Given the description of an element on the screen output the (x, y) to click on. 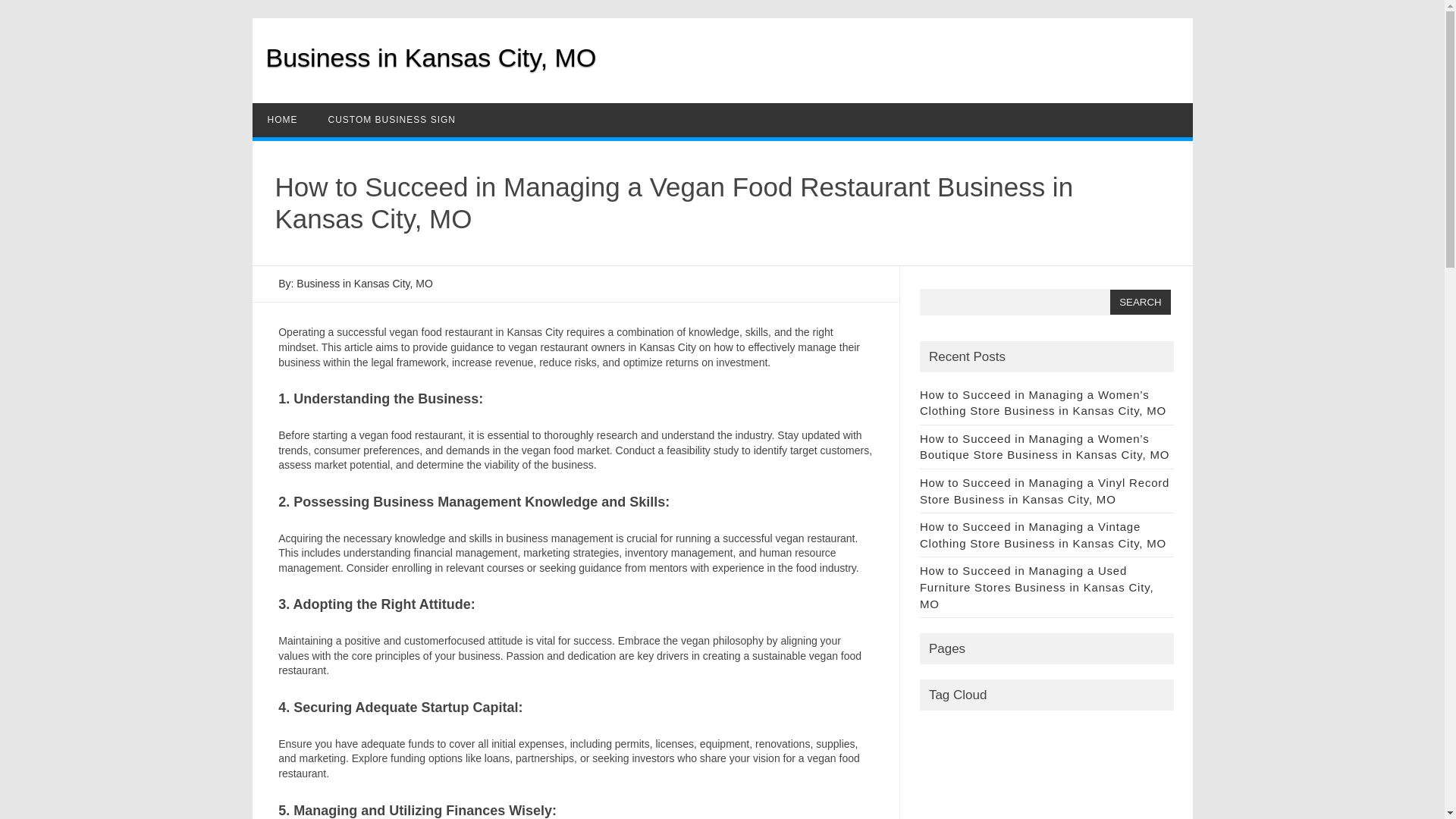
Search (1139, 301)
Business in Kansas City, MO (429, 57)
HOME (282, 119)
Business in Kansas City, MO (429, 57)
CUSTOM BUSINESS SIGN (391, 119)
Search (1139, 301)
